Given the description of an element on the screen output the (x, y) to click on. 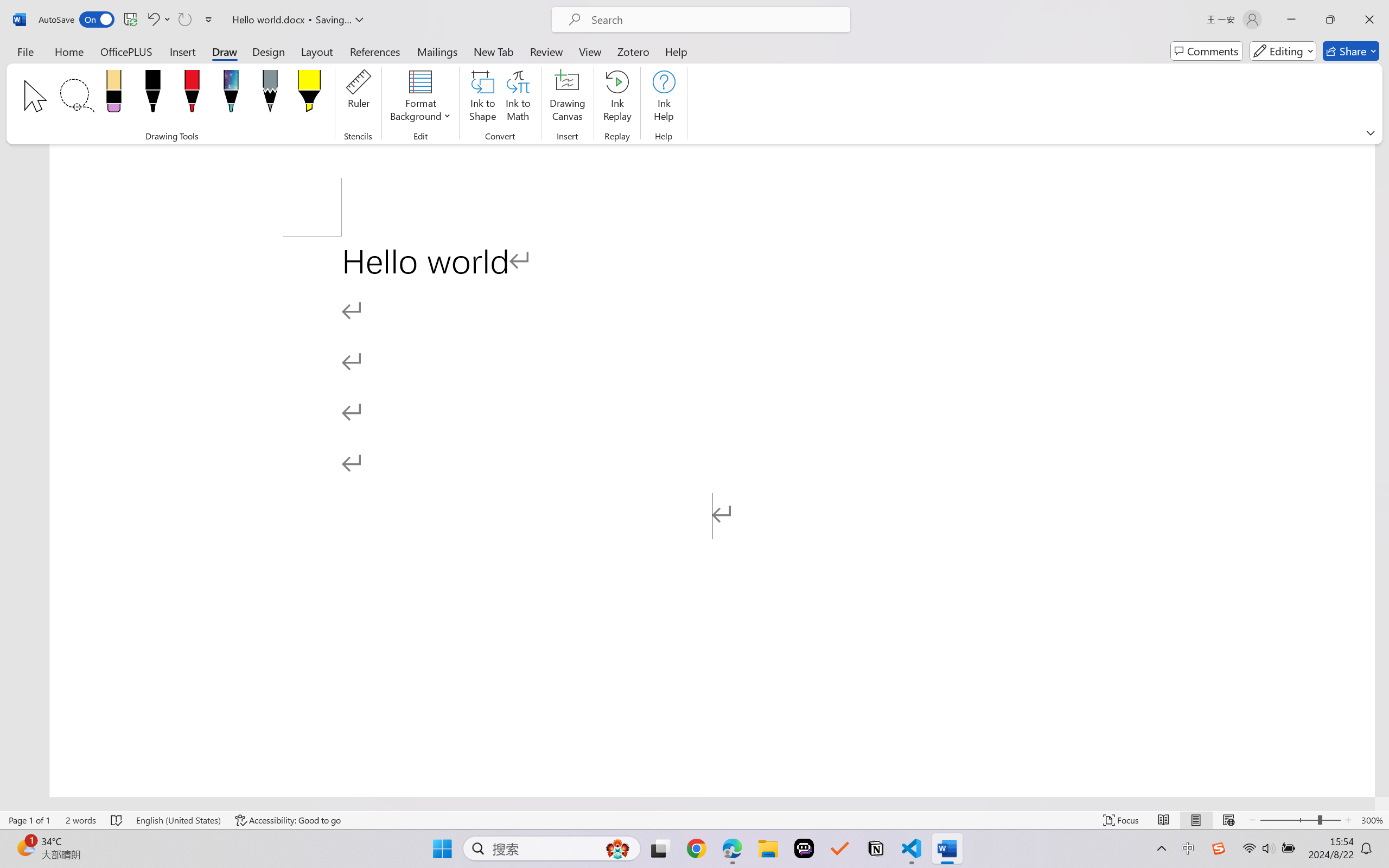
More Options (167, 19)
Mode (1283, 50)
Help (675, 51)
New Tab (493, 51)
File Tab (24, 51)
Highlighter: Yellow, 6 mm (309, 94)
Read Mode (1163, 819)
Quick Access Toolbar (127, 19)
Accessibility Checker Accessibility: Good to go (288, 819)
Pen: Red, 0.5 mm (191, 94)
Ink Help (663, 97)
Ink to Math (517, 97)
Page 1 content (711, 516)
Ink to Shape (483, 97)
